Given the description of an element on the screen output the (x, y) to click on. 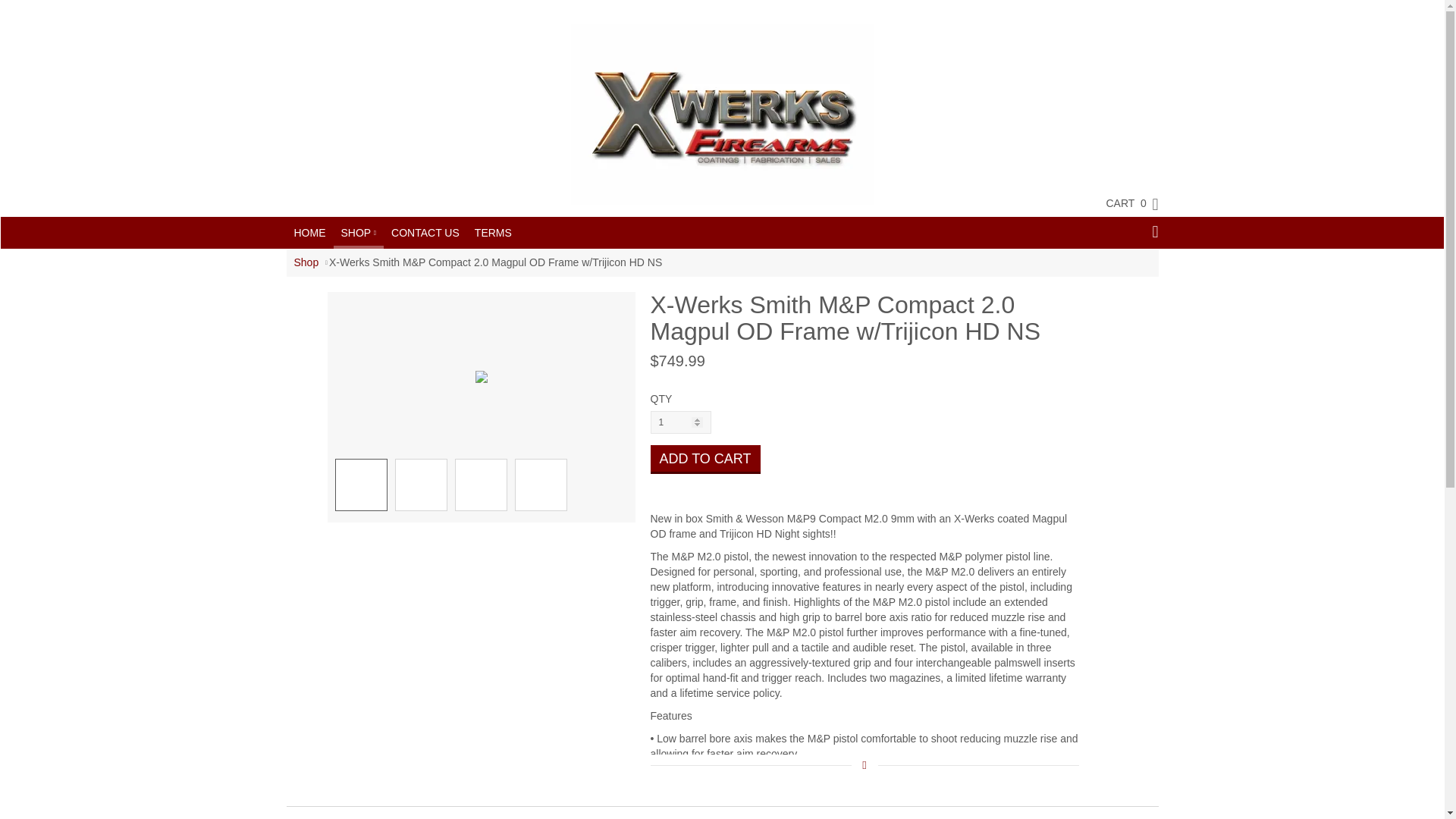
HOME (309, 232)
CART  0   (1123, 203)
1 (680, 422)
Add to Cart (705, 459)
SHOP (358, 231)
